Given the description of an element on the screen output the (x, y) to click on. 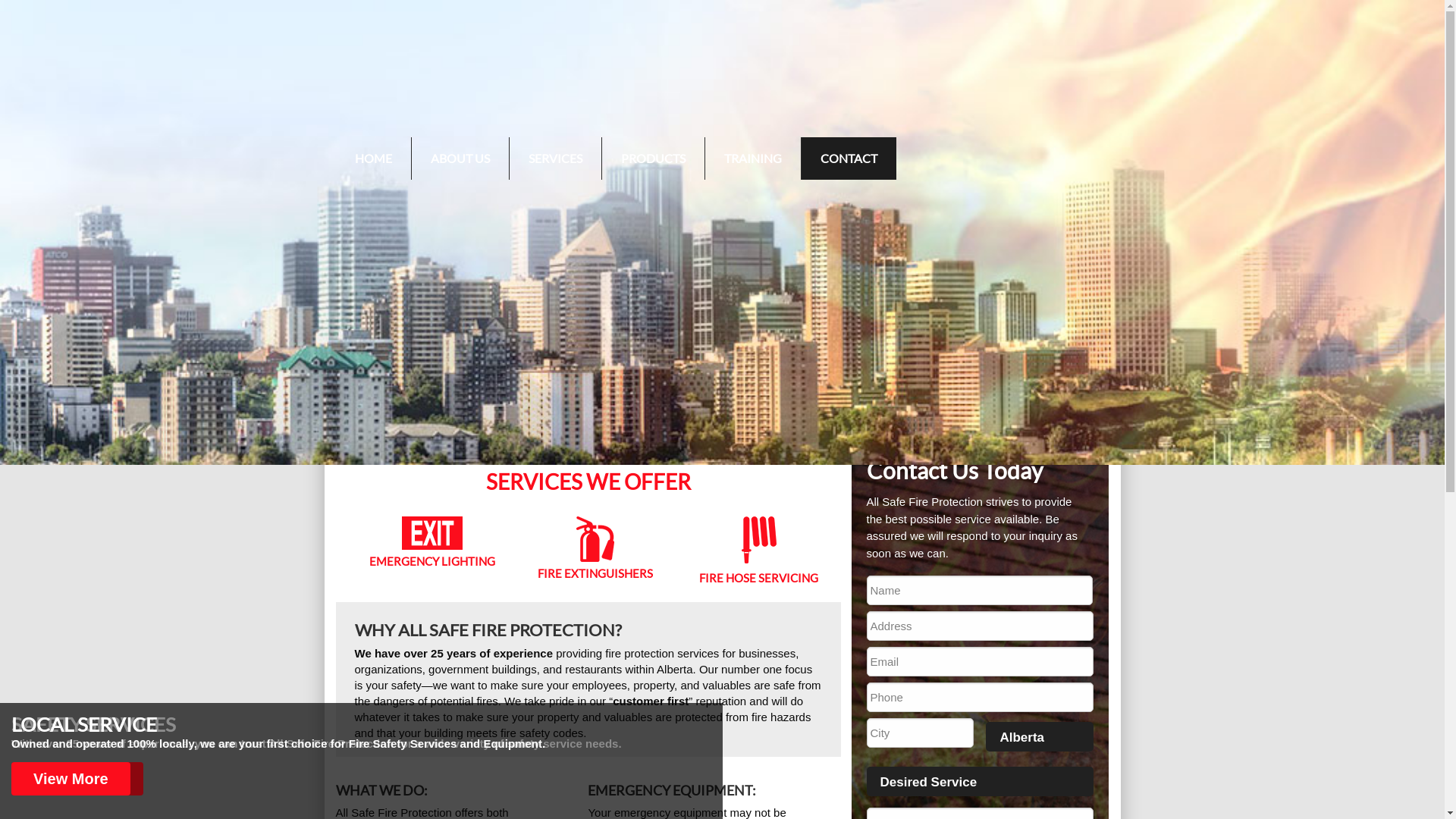
ABOUT US Element type: text (459, 158)
EMERGENCY LIGHTING Element type: text (431, 553)
HOME Element type: text (372, 158)
View More Element type: text (70, 778)
FIRE HOSE SERVICING Element type: text (758, 553)
CONTACT Element type: text (847, 158)
View Details Element type: text (77, 778)
PRODUCTS Element type: text (653, 158)
FIRE EXTINGUISHERS Element type: text (595, 553)
SERVICES Element type: text (555, 158)
TRAINING Element type: text (752, 158)
